Given the description of an element on the screen output the (x, y) to click on. 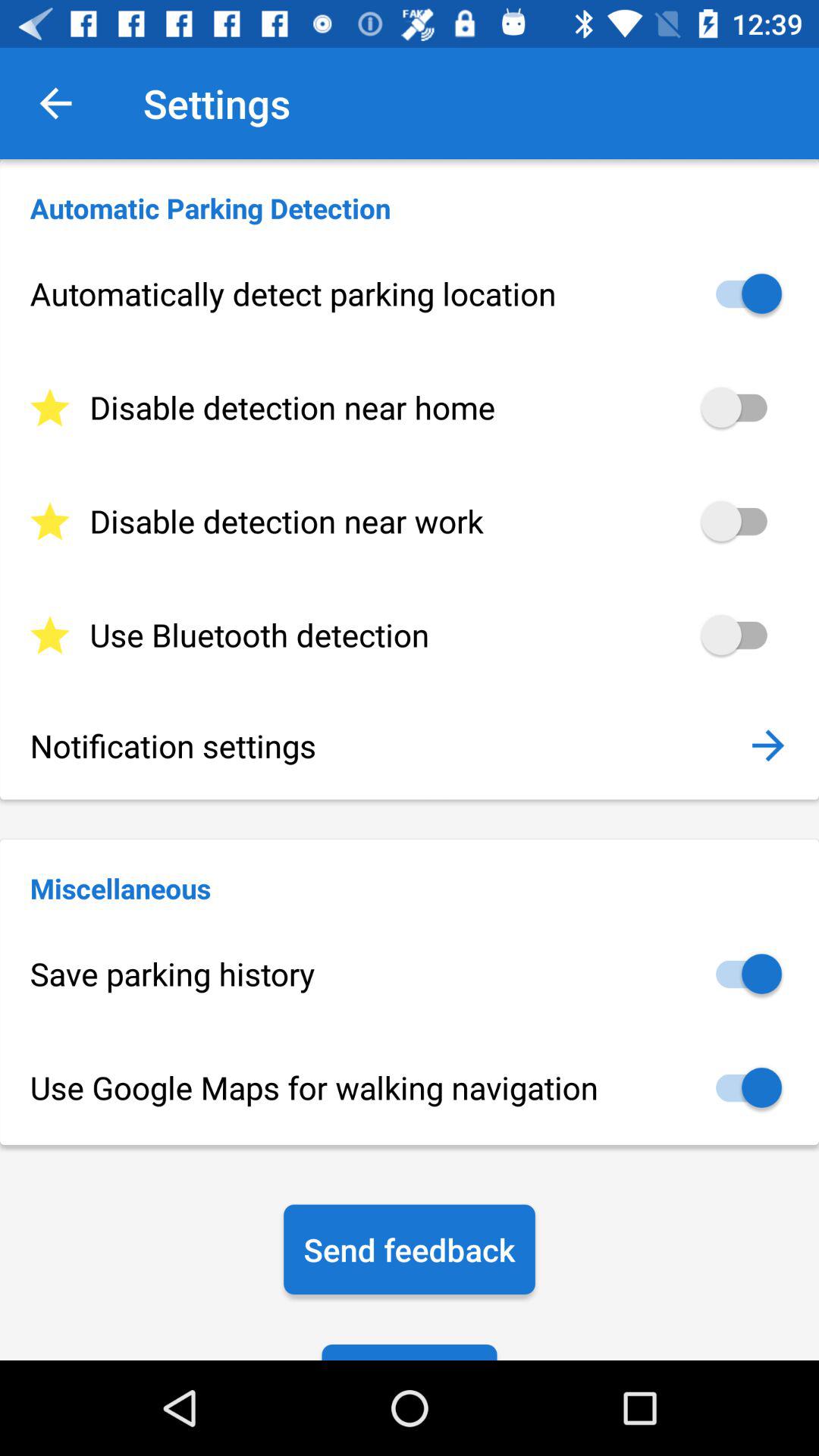
swipe to the use bluetooth detection item (409, 634)
